Given the description of an element on the screen output the (x, y) to click on. 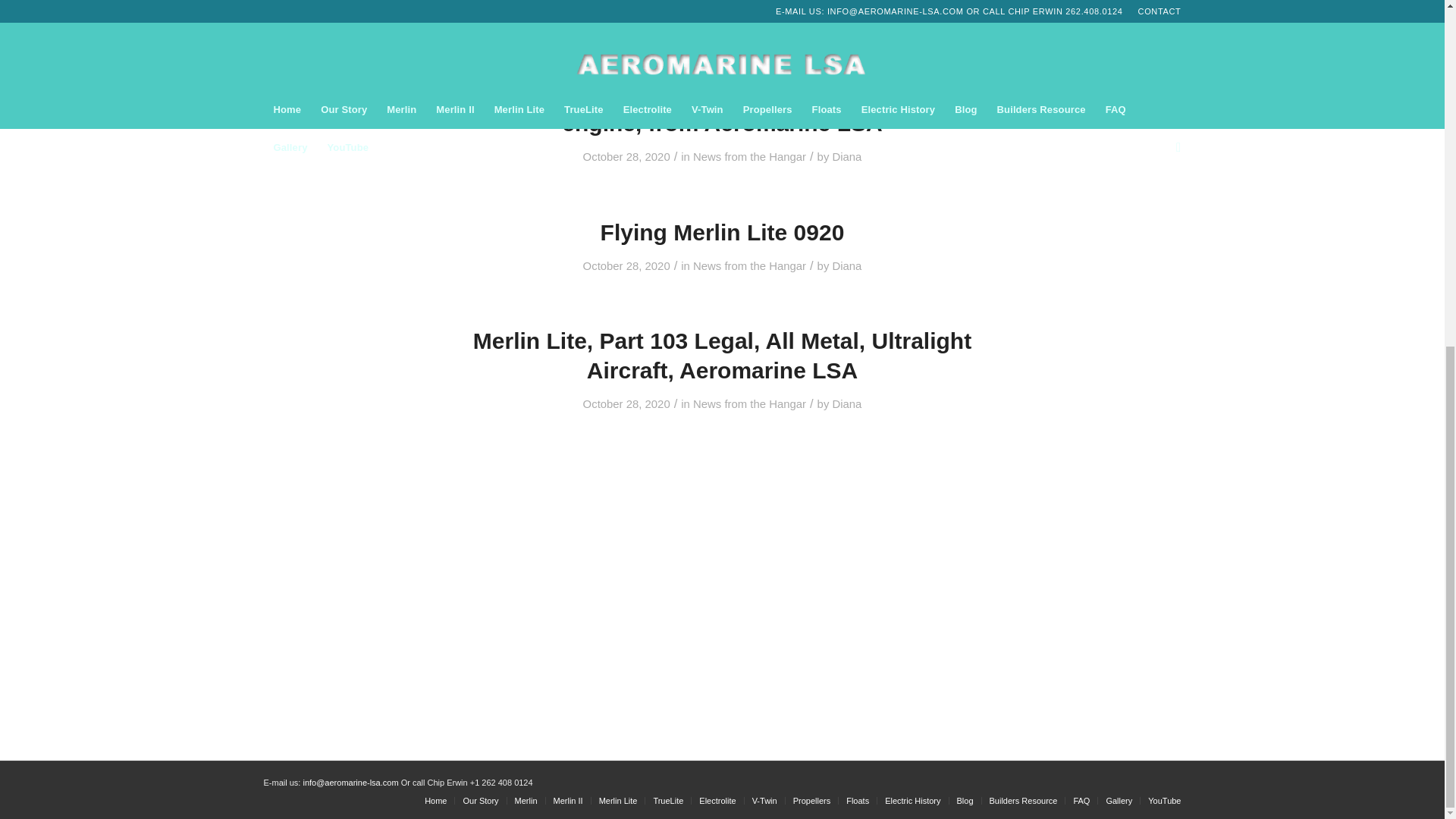
Posts by Diana (846, 156)
Diana (846, 265)
News from the Hangar (749, 404)
Merlin (526, 800)
Diana (846, 404)
Merlin Lite (617, 800)
TrueLite (667, 800)
News from the Hangar (749, 265)
Posts by Diana (846, 265)
Permanent Link: Flying Merlin Lite 0920 (721, 232)
Posts by Diana (846, 404)
Diana (846, 156)
